Given the description of an element on the screen output the (x, y) to click on. 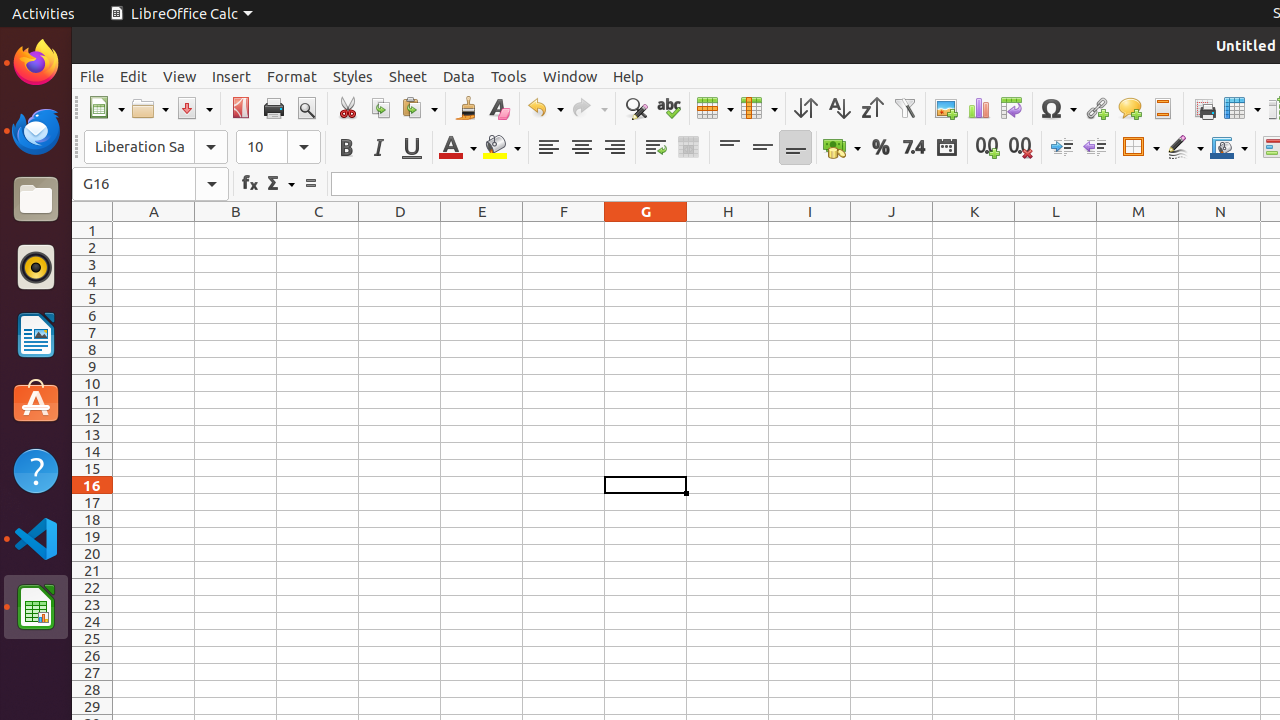
AutoFilter Element type: push-button (904, 108)
Align Top Element type: push-button (729, 147)
View Element type: menu (179, 76)
Symbol Element type: push-button (1058, 108)
Format Element type: menu (292, 76)
